Given the description of an element on the screen output the (x, y) to click on. 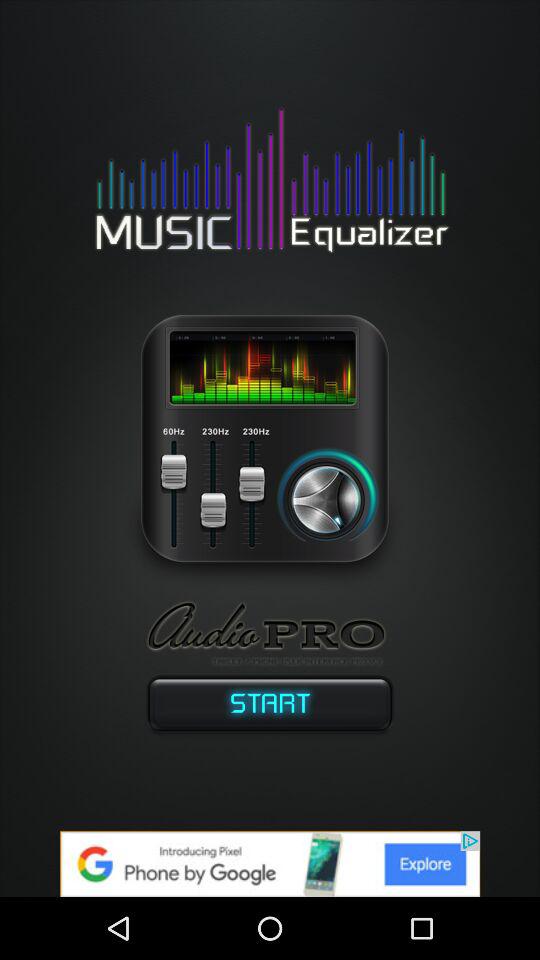
click to start (270, 707)
